Given the description of an element on the screen output the (x, y) to click on. 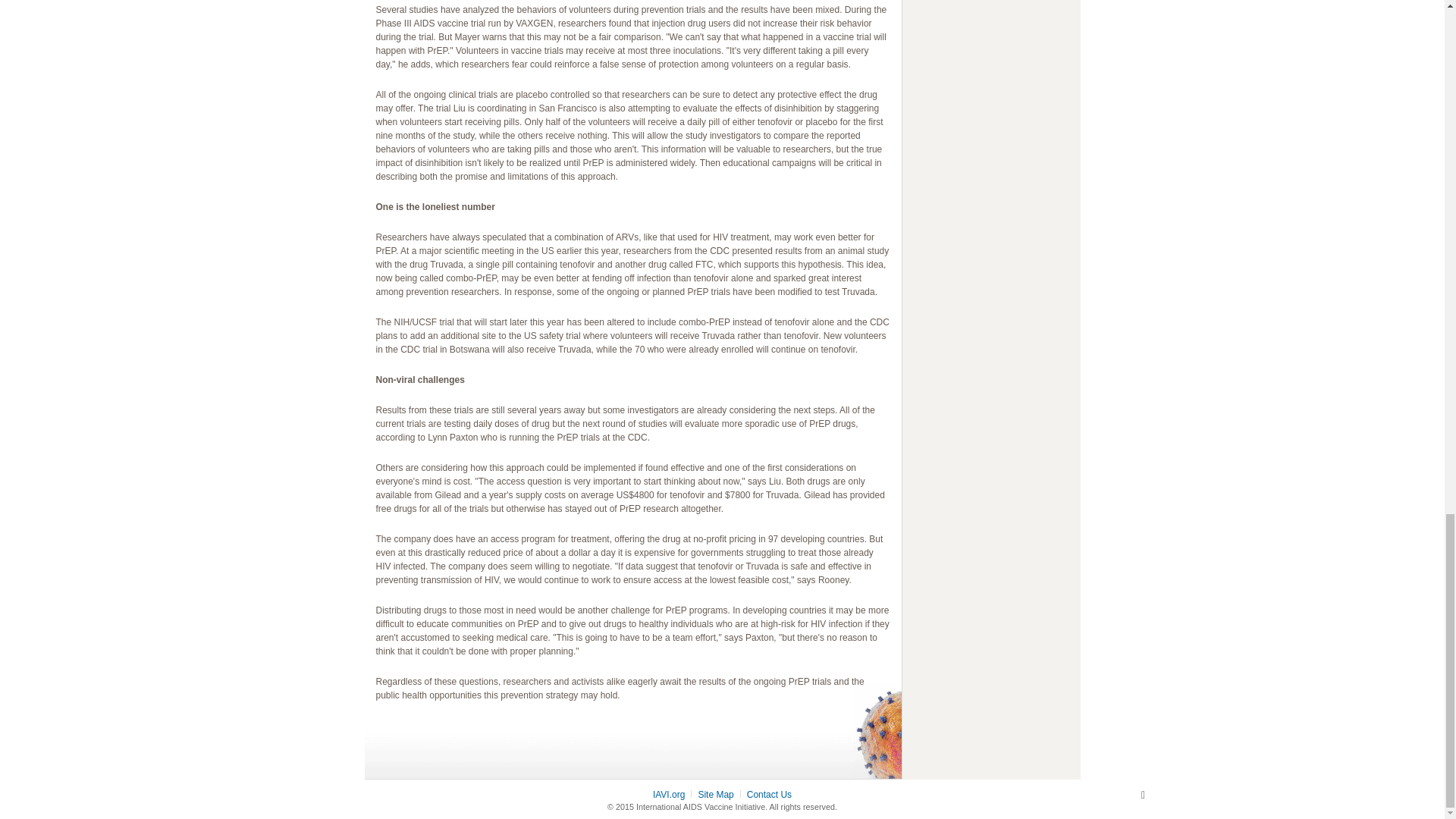
IAVI.org (668, 794)
Site Map (715, 794)
Contact Us (769, 794)
